Given the description of an element on the screen output the (x, y) to click on. 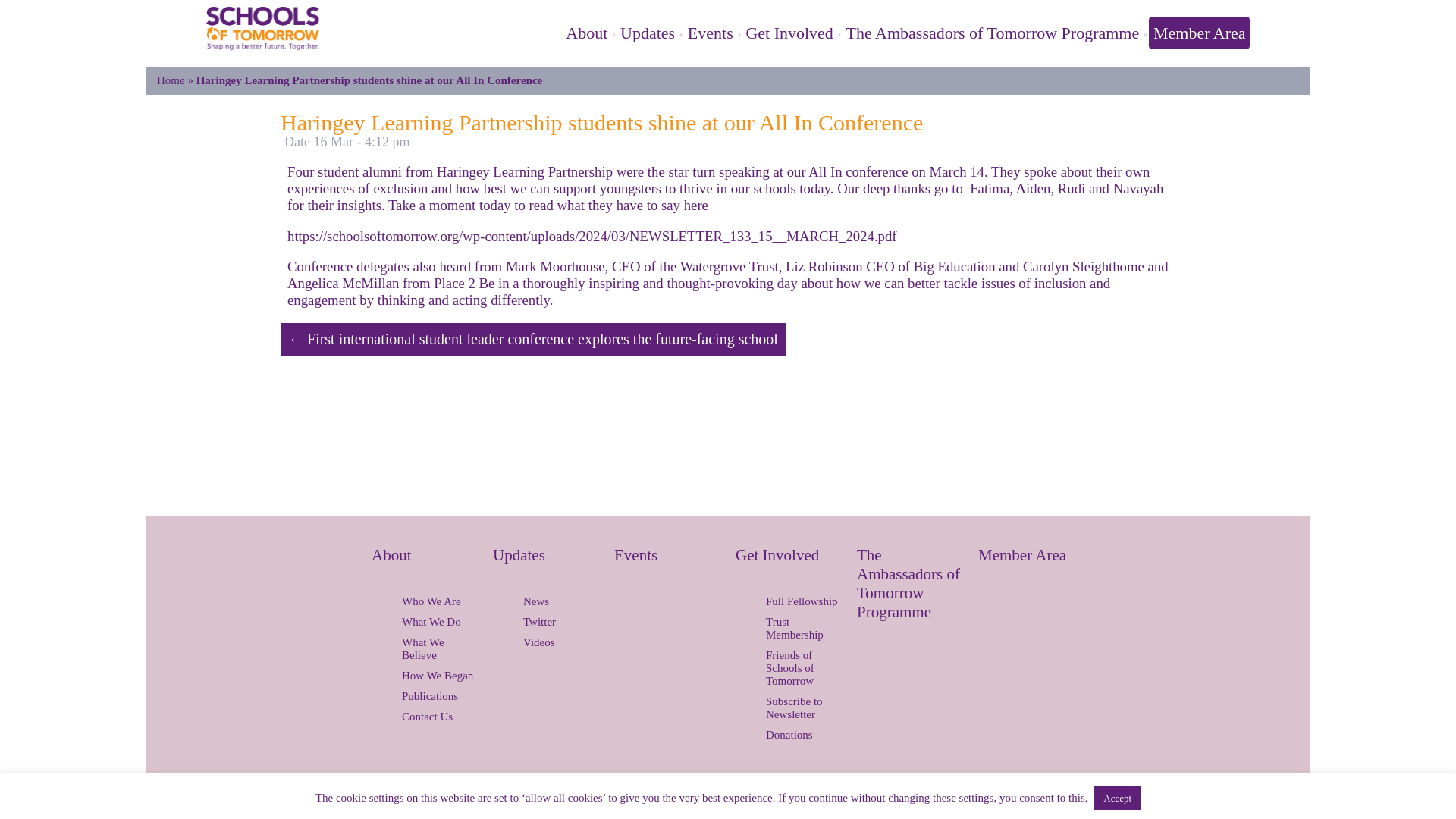
Contact Us (439, 571)
Full Fellowship (803, 456)
Trust Membership (803, 483)
Get Involved (788, 33)
The Ambassadors of Tomorrow Programme (992, 33)
Publications (439, 551)
What We Believe (439, 503)
Twitter (539, 476)
Updates (545, 423)
Who We Are (439, 456)
